Given the description of an element on the screen output the (x, y) to click on. 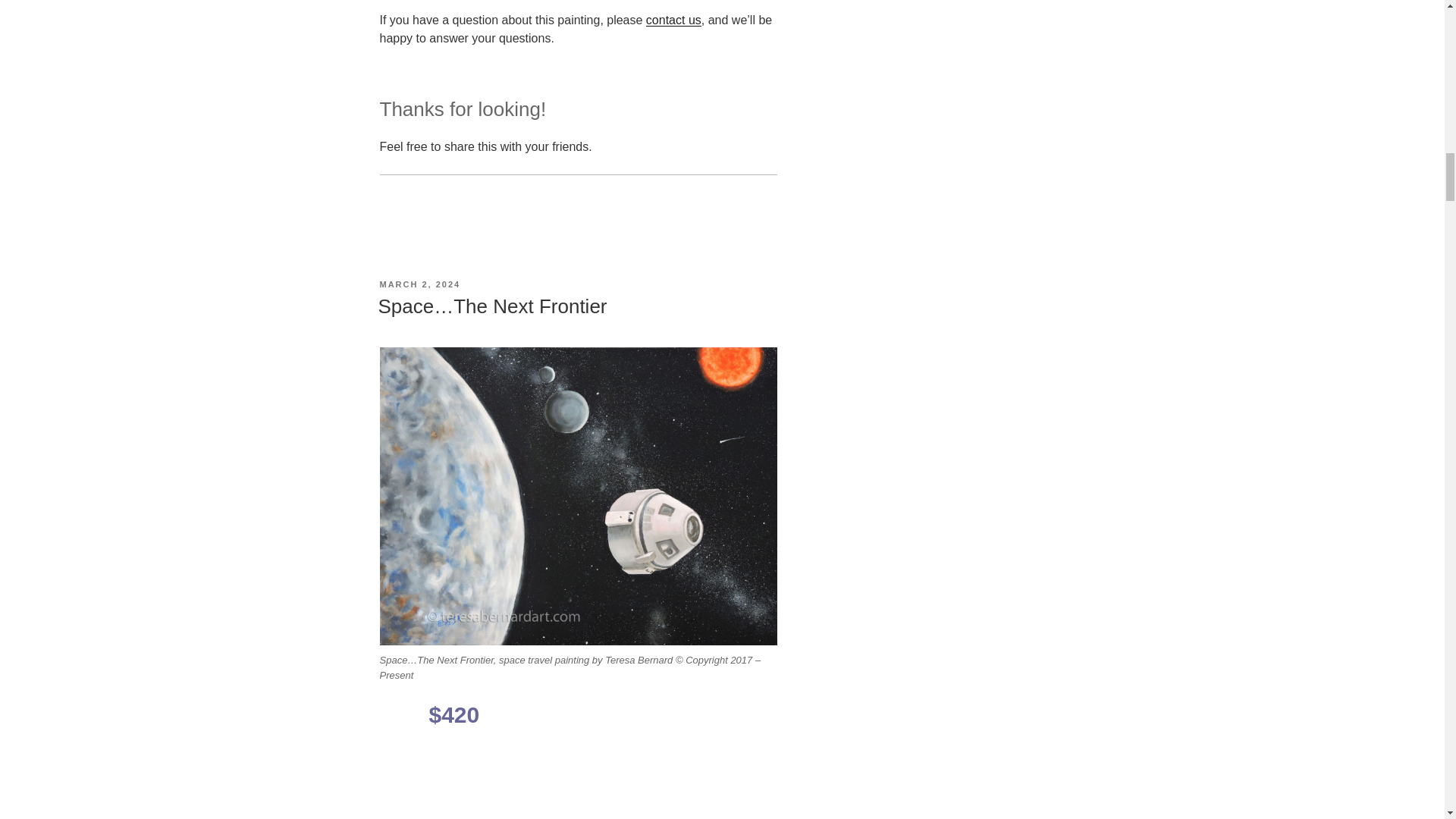
MARCH 2, 2024 (419, 284)
contact us (673, 19)
